Given the description of an element on the screen output the (x, y) to click on. 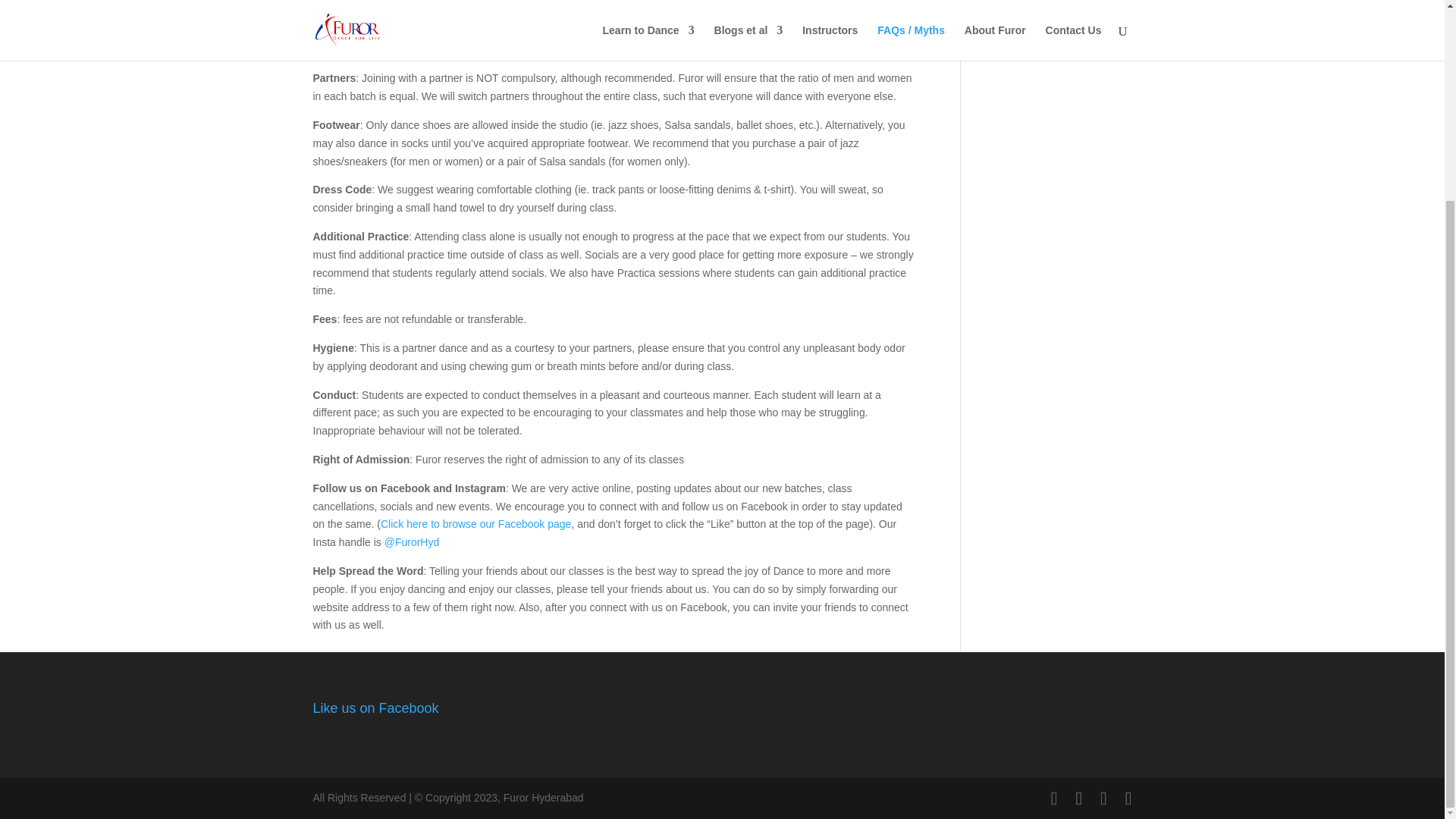
Click here to browse our Facebook page (475, 523)
